Given the description of an element on the screen output the (x, y) to click on. 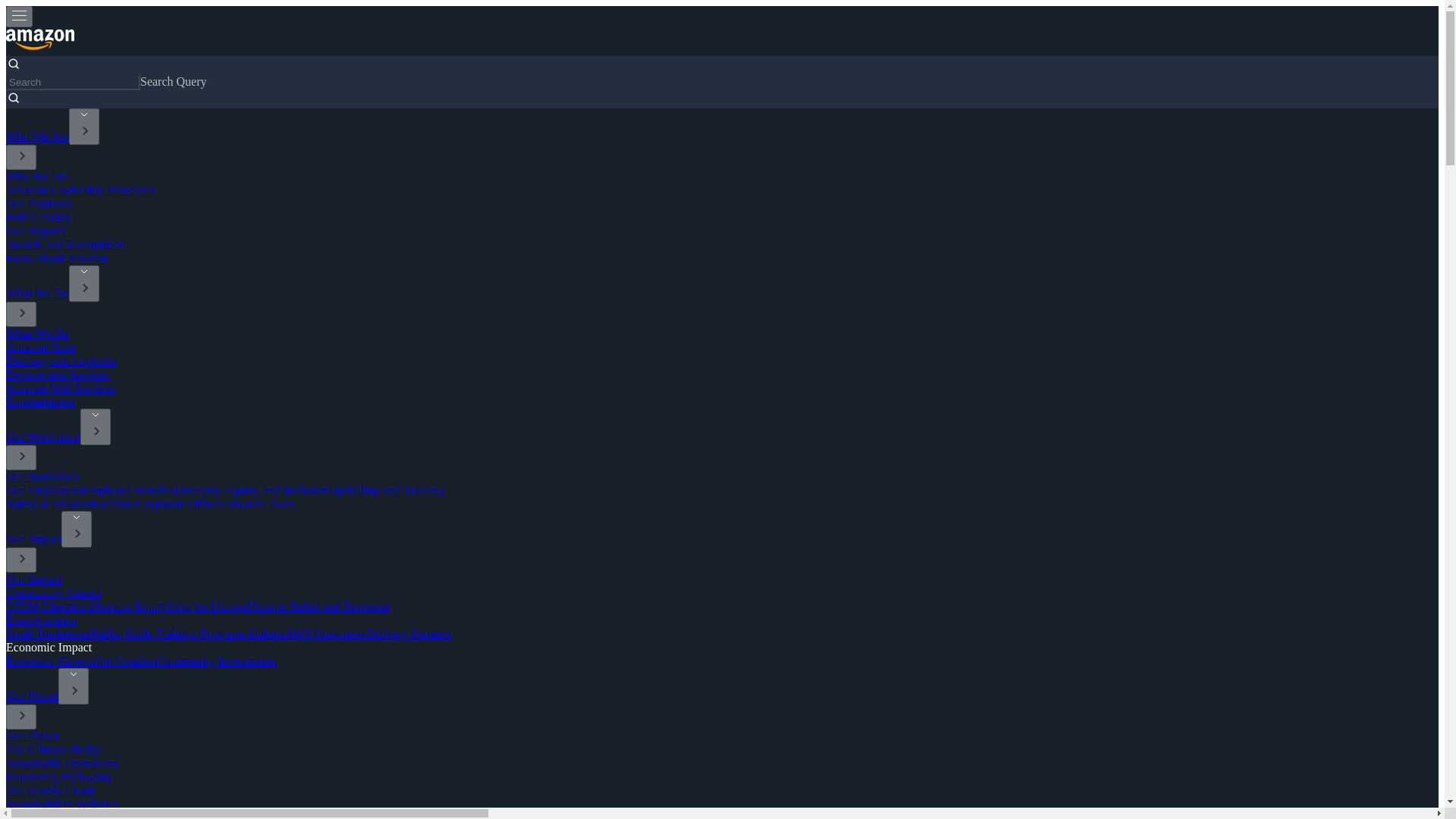
Our Employees (43, 490)
Amazon Leadership Principles (80, 189)
Who We Are (36, 175)
Community Impact (52, 592)
Diversity, Equity, and Inclusion (251, 490)
Corporate Offices (180, 503)
Awards and Recognition (65, 244)
What We Do (36, 332)
Our Workplace (42, 436)
Safety at Amazon (49, 503)
